Given the description of an element on the screen output the (x, y) to click on. 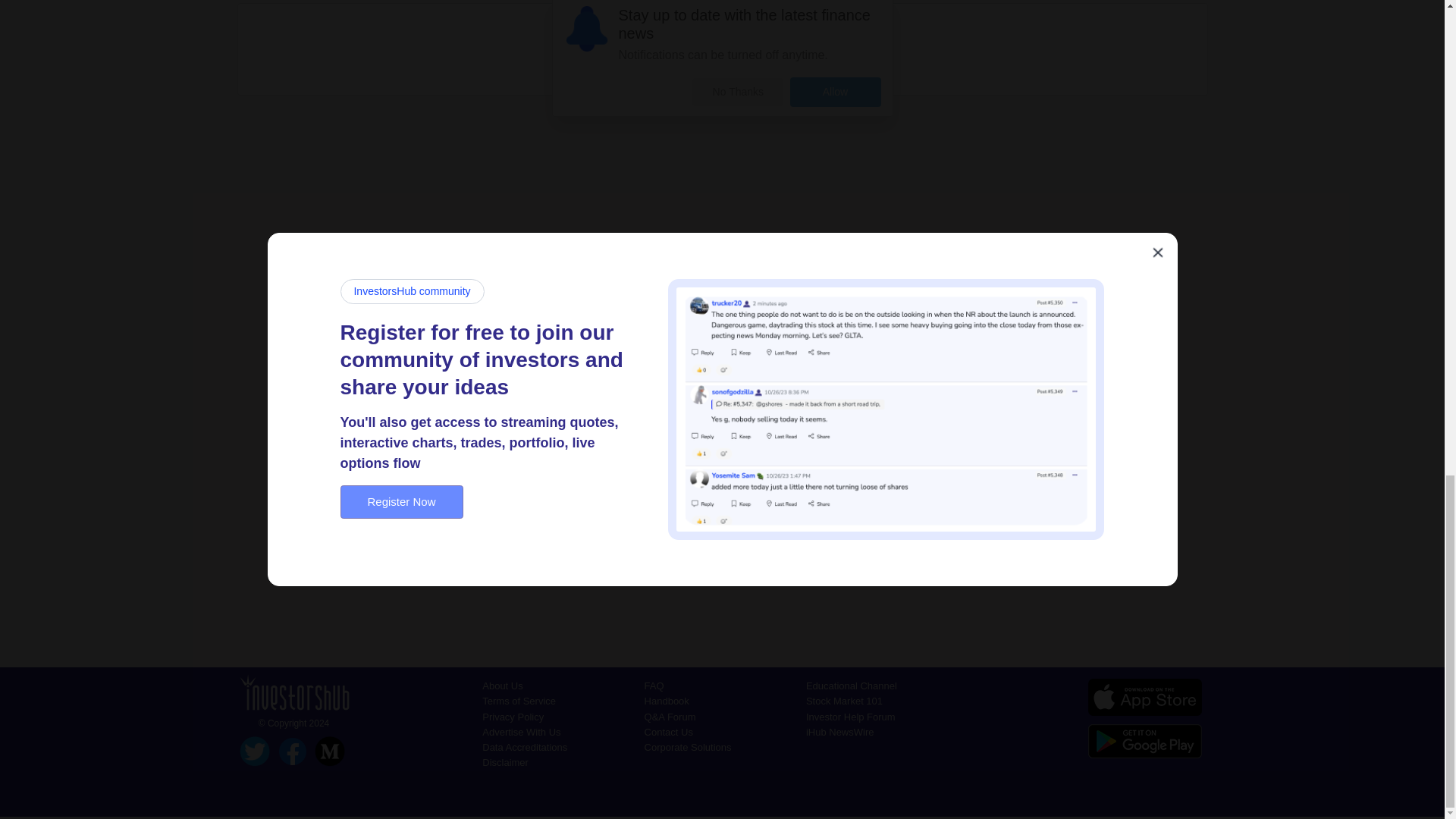
Like InvestorsHub on Facebook! (293, 749)
See the latest blog posts from ADVFN on Medium! (329, 749)
3rd party ad content (721, 49)
